Given the description of an element on the screen output the (x, y) to click on. 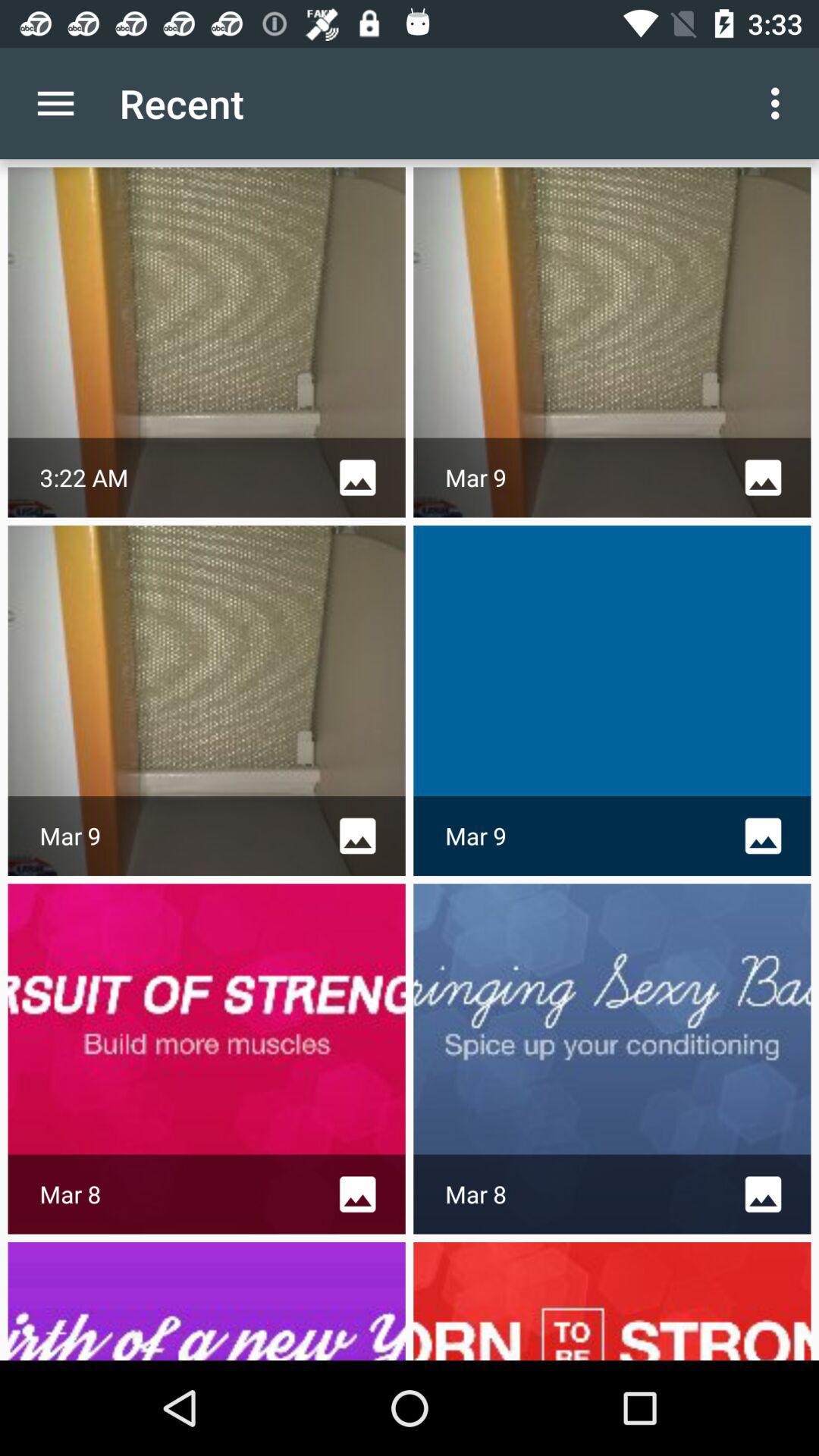
click the icon next to recent app (779, 103)
